Given the description of an element on the screen output the (x, y) to click on. 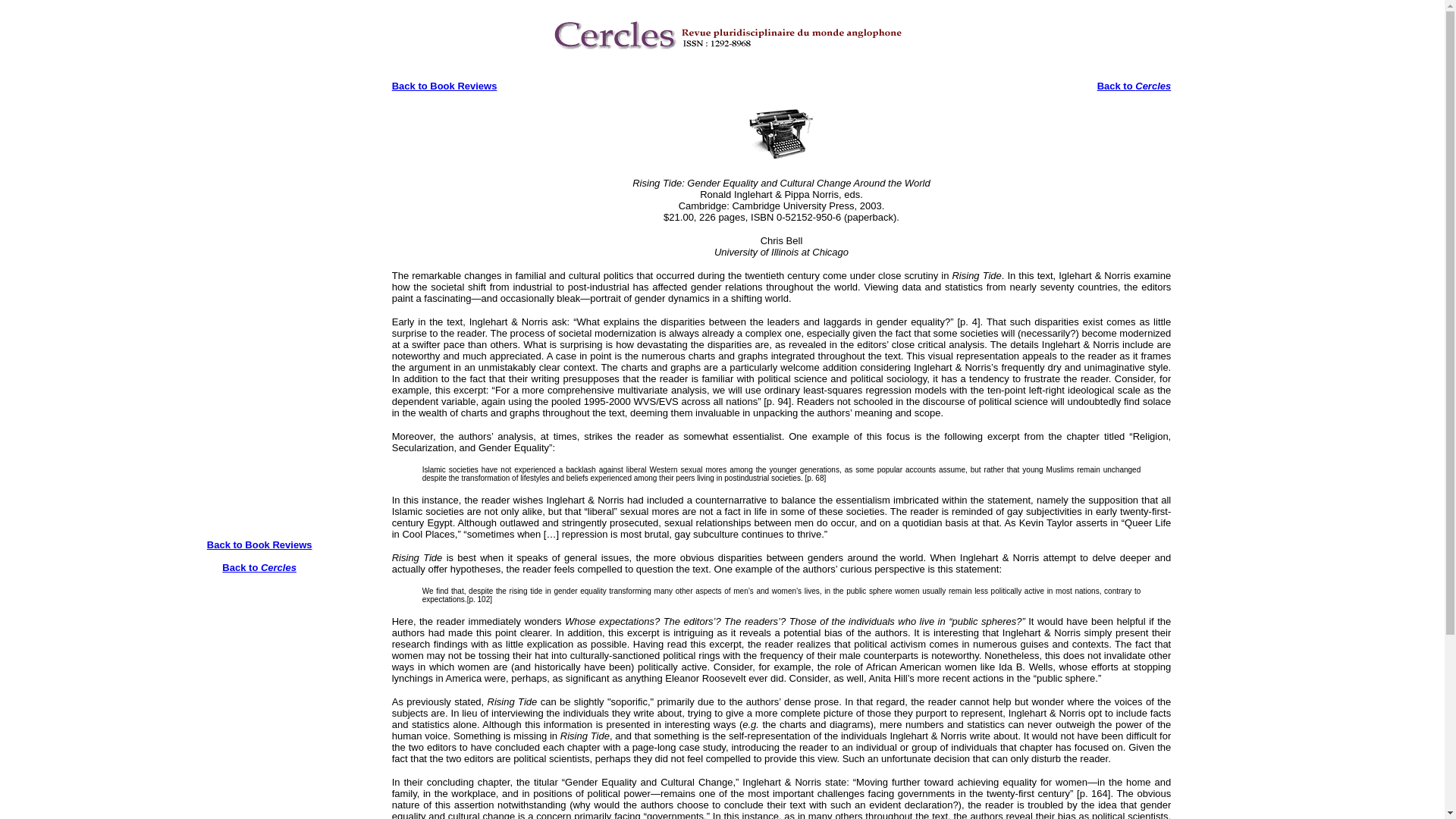
Back to Book Reviews (259, 544)
Back to Book Reviews (444, 85)
Back to Cercles (259, 572)
Back to Cercles (1134, 85)
